Given the description of an element on the screen output the (x, y) to click on. 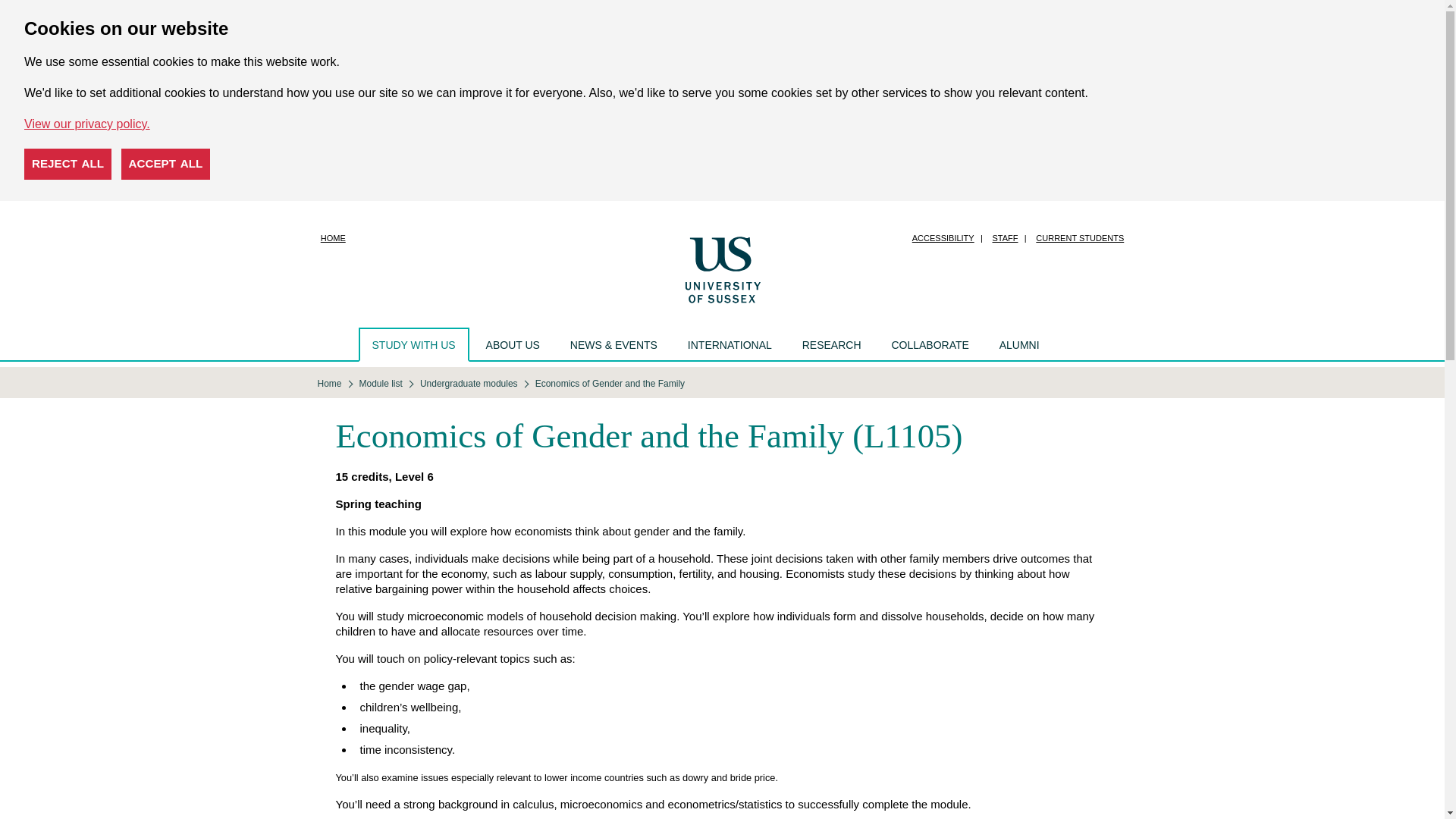
ACCEPT ALL (165, 163)
University of Sussex (722, 268)
STAFF (1005, 238)
View our privacy policy. (86, 123)
STUDY WITH US (413, 344)
ACCESSIBILITY (942, 238)
REJECT ALL (68, 163)
HOME (333, 238)
CURRENT STUDENTS (1079, 238)
